Given the description of an element on the screen output the (x, y) to click on. 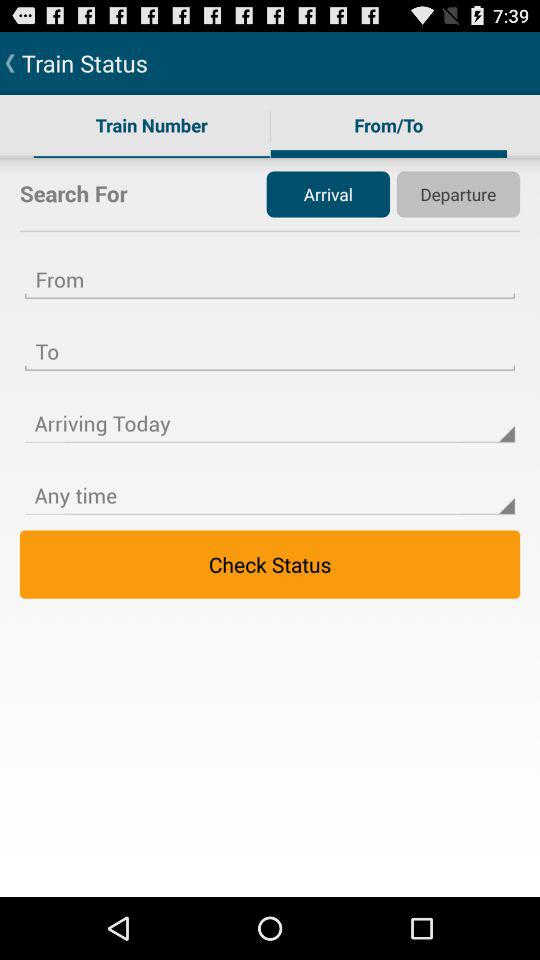
enter destination of train (269, 339)
